Given the description of an element on the screen output the (x, y) to click on. 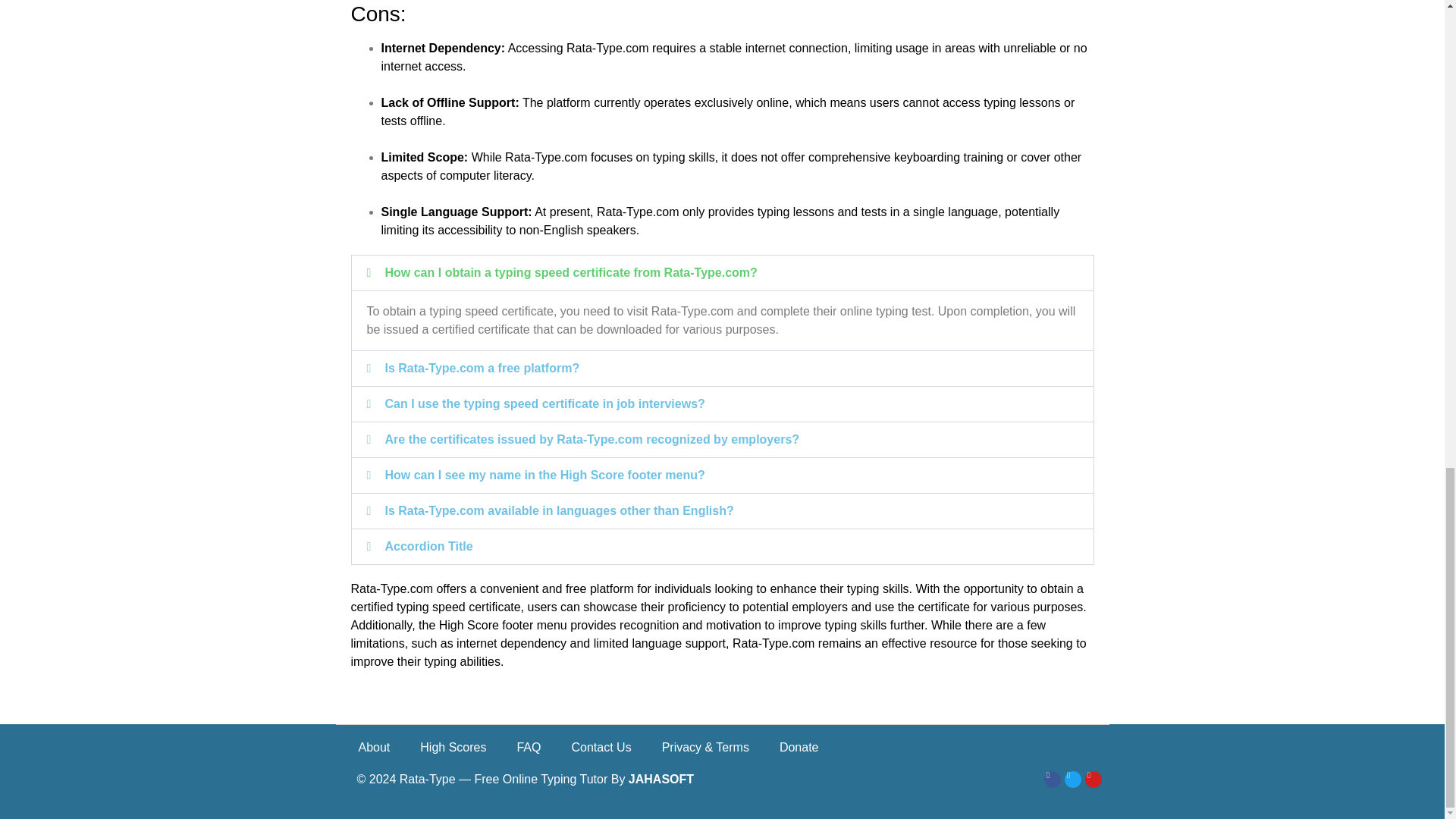
How can I see my name in the High Score footer menu? (544, 474)
Is Rata-Type.com a free platform? (482, 367)
Accordion Title (429, 545)
Is Rata-Type.com available in languages other than English? (559, 510)
JAHASOFT (661, 779)
Contact Us (601, 747)
Donate (799, 747)
About (373, 747)
High Scores (452, 747)
Can I use the typing speed certificate in job interviews? (544, 403)
FAQ (528, 747)
